Given the description of an element on the screen output the (x, y) to click on. 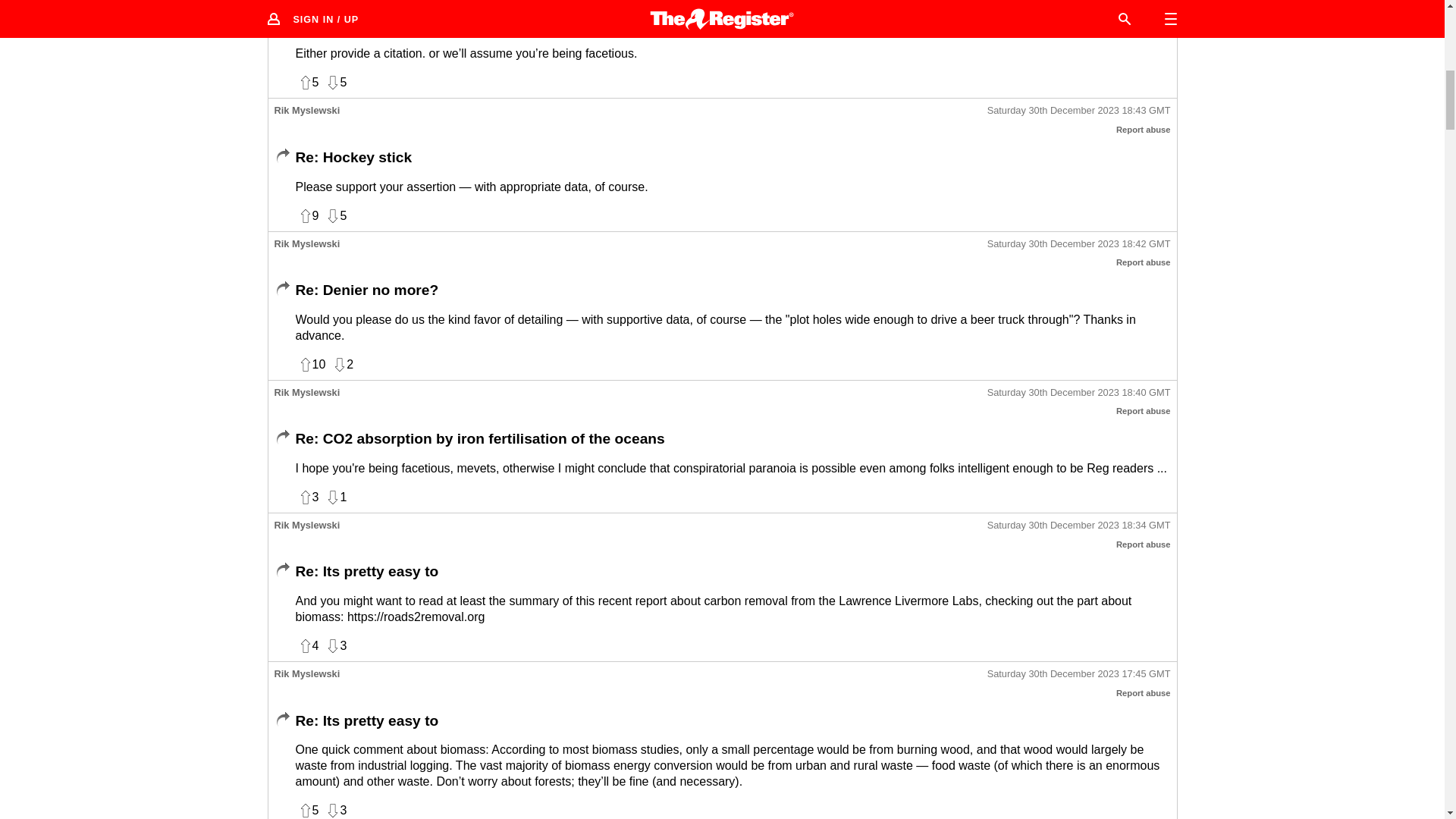
Report abuse (1143, 0)
Report abuse (1143, 410)
Report abuse (1143, 543)
Report abuse (1143, 261)
Report abuse (1143, 129)
Report abuse (1143, 692)
